Given the description of an element on the screen output the (x, y) to click on. 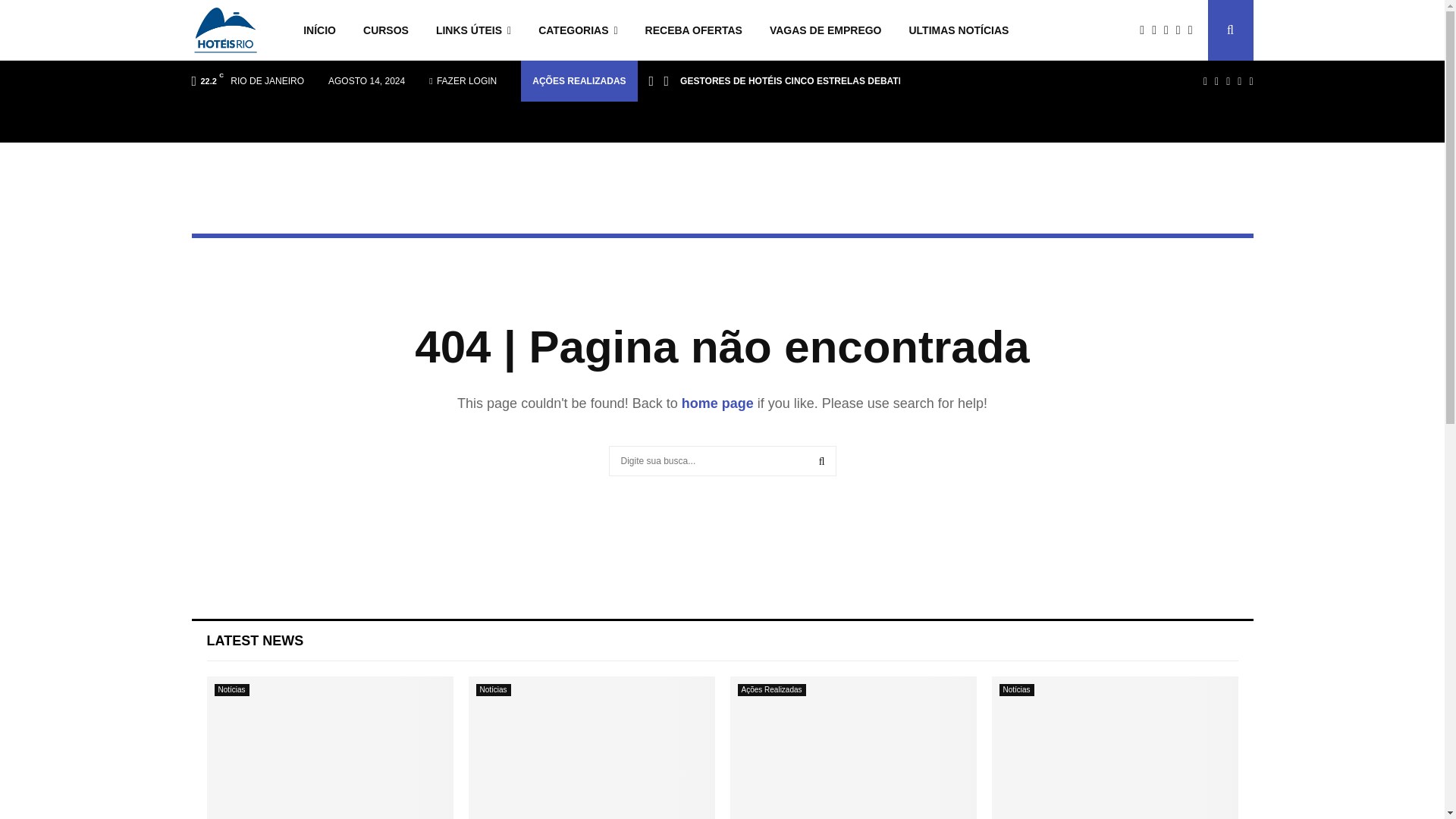
Sign up new account (722, 531)
RECEBA OFERTAS (693, 30)
CURSOS (385, 30)
FAZER LOGIN (462, 80)
CATEGORIAS (577, 30)
Login to your account (722, 458)
Latest News (254, 640)
VAGAS DE EMPREGO (825, 30)
